Given the description of an element on the screen output the (x, y) to click on. 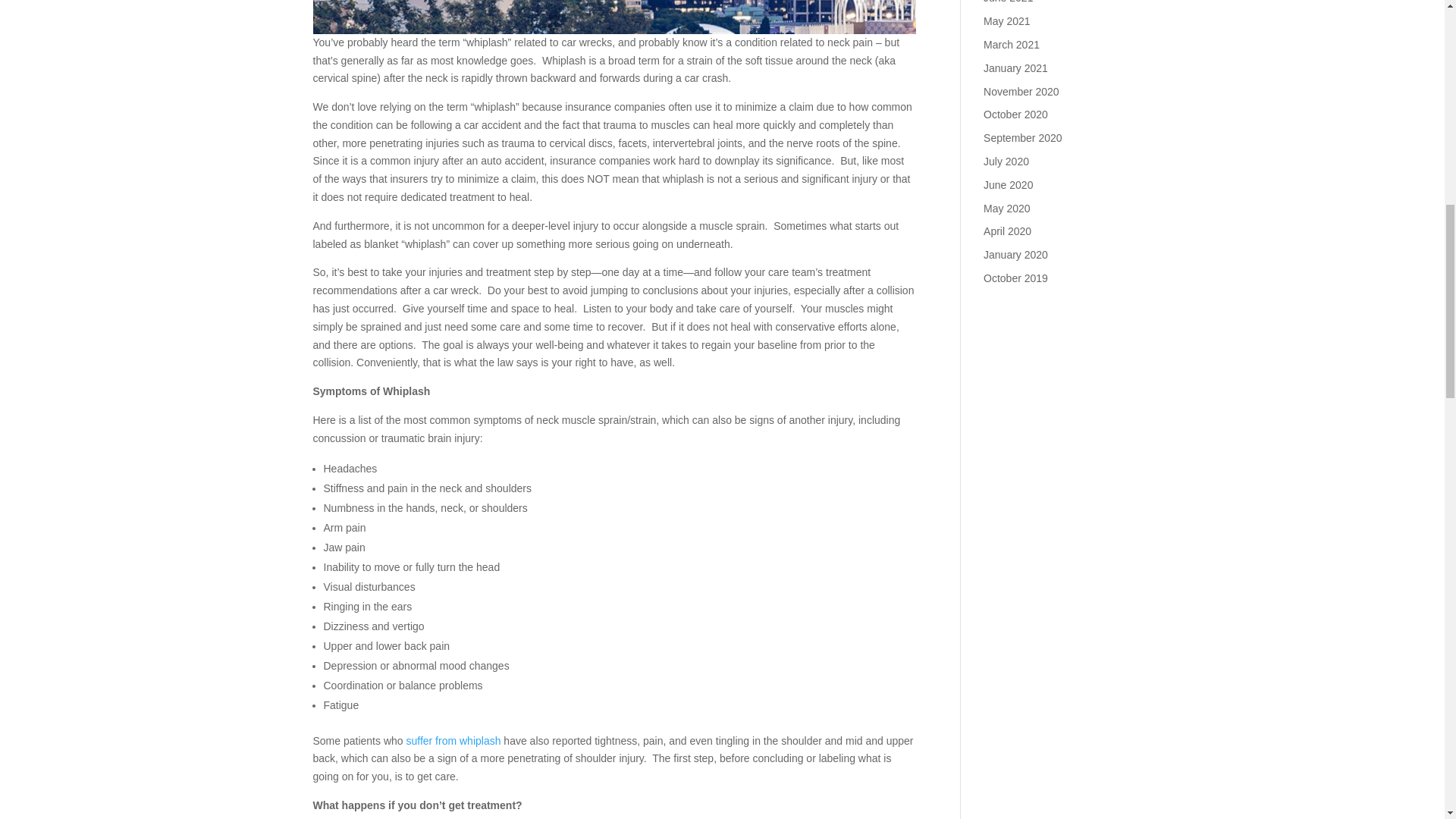
suffer from whiplash (453, 740)
